Given the description of an element on the screen output the (x, y) to click on. 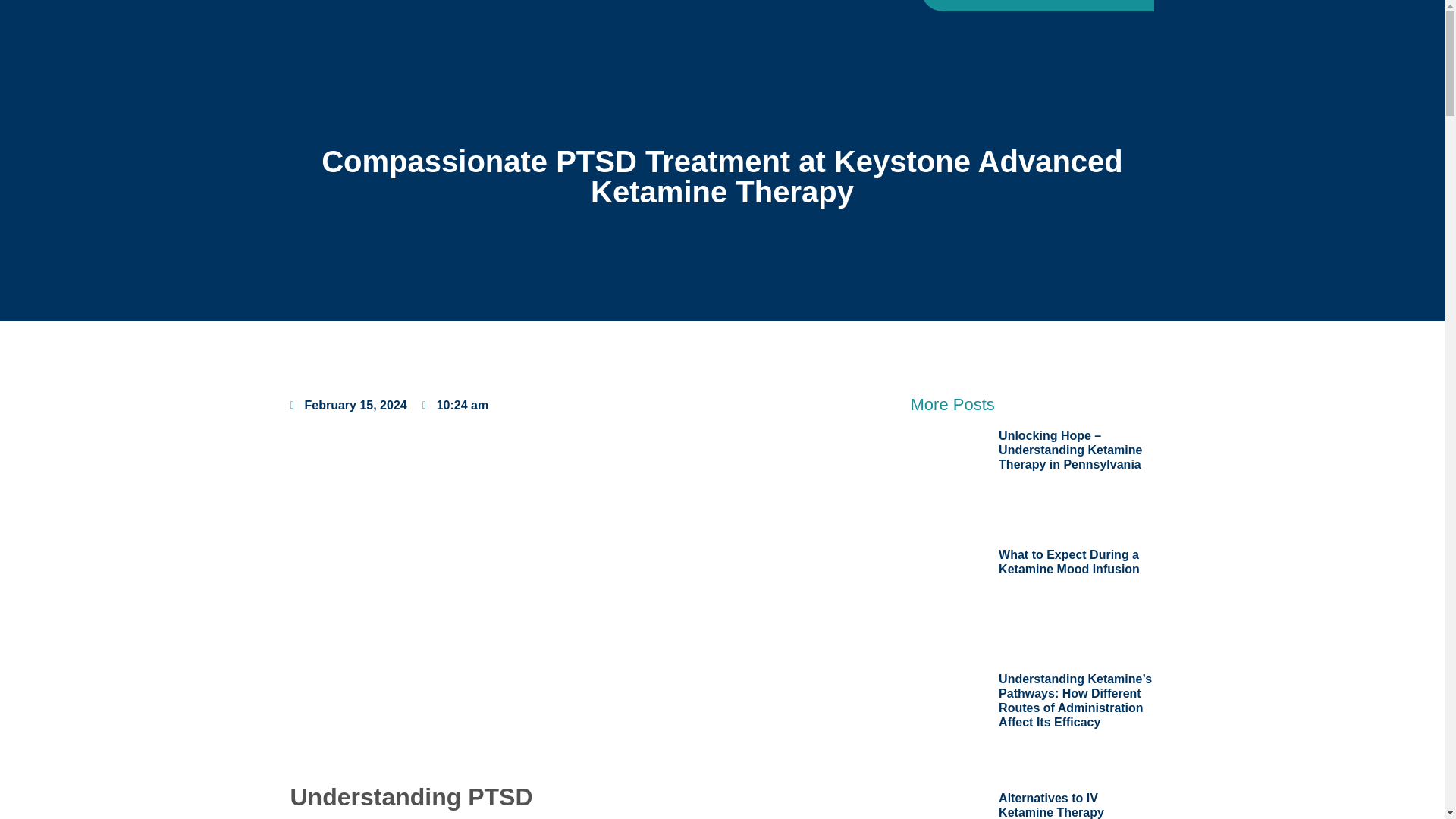
Contact (885, 7)
Home (529, 7)
Blog (823, 7)
Resources (753, 7)
Conditions (665, 7)
About (590, 7)
